Given the description of an element on the screen output the (x, y) to click on. 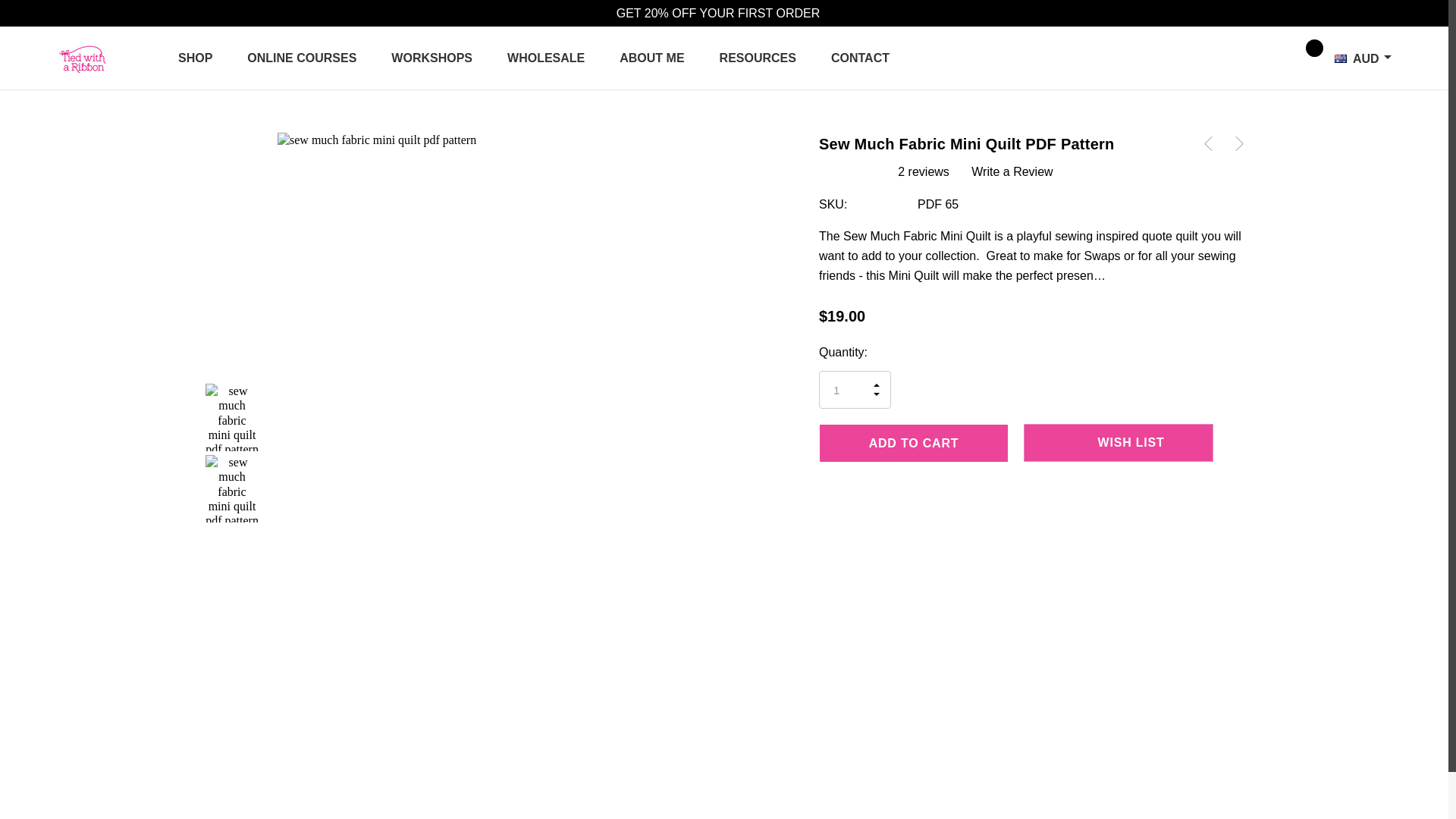
SHOP (195, 57)
WORKSHOPS (431, 57)
AUD (1357, 58)
Wish Lists Wish Lists (1266, 56)
RESOURCES (757, 57)
1 (854, 389)
Add to Cart (913, 443)
Wish Lists Wish Lists (1265, 57)
Tied with A Ribbon (82, 58)
WHOLESALE (545, 57)
